Given the description of an element on the screen output the (x, y) to click on. 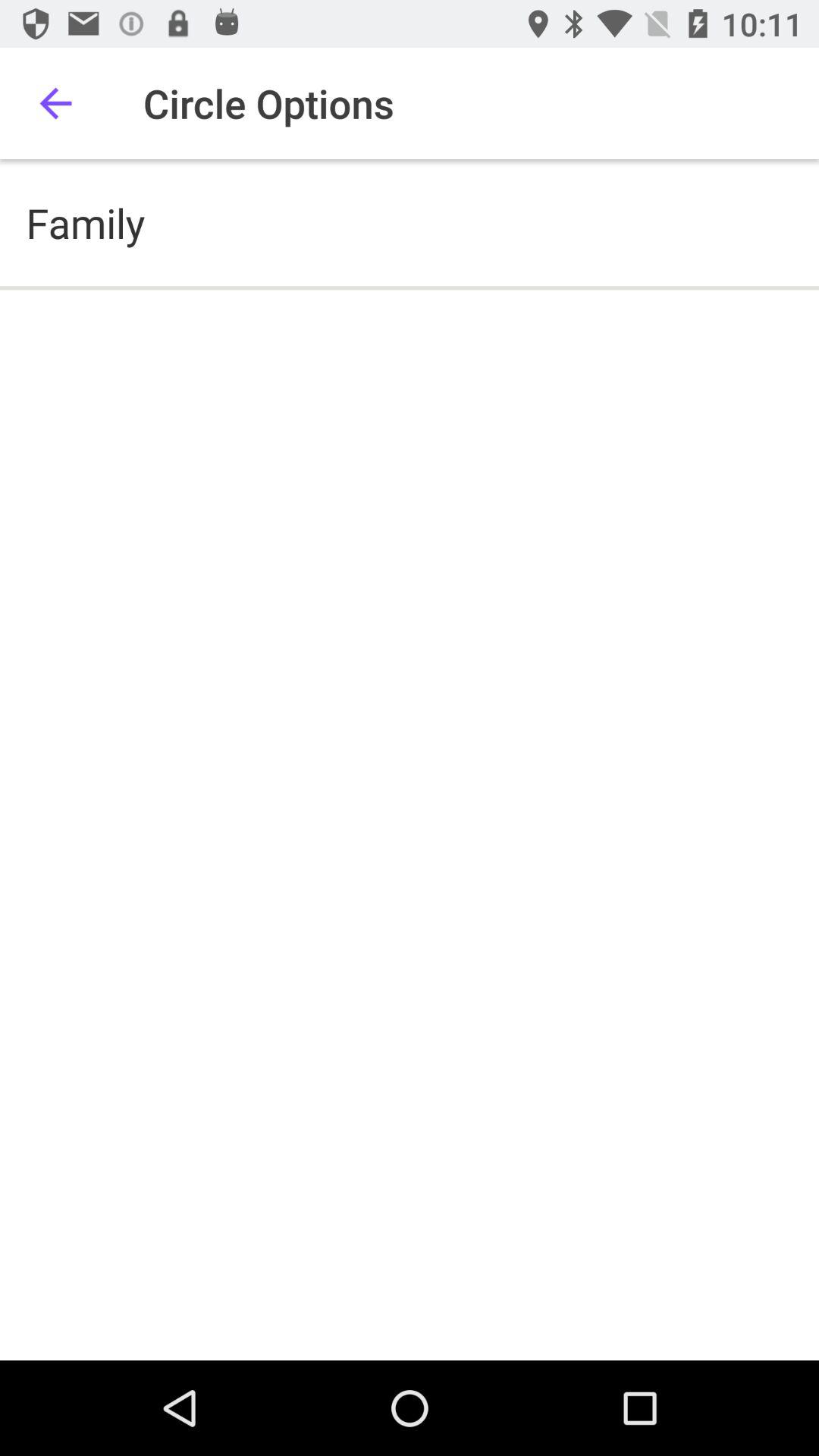
select icon to the left of the circle options (55, 103)
